Given the description of an element on the screen output the (x, y) to click on. 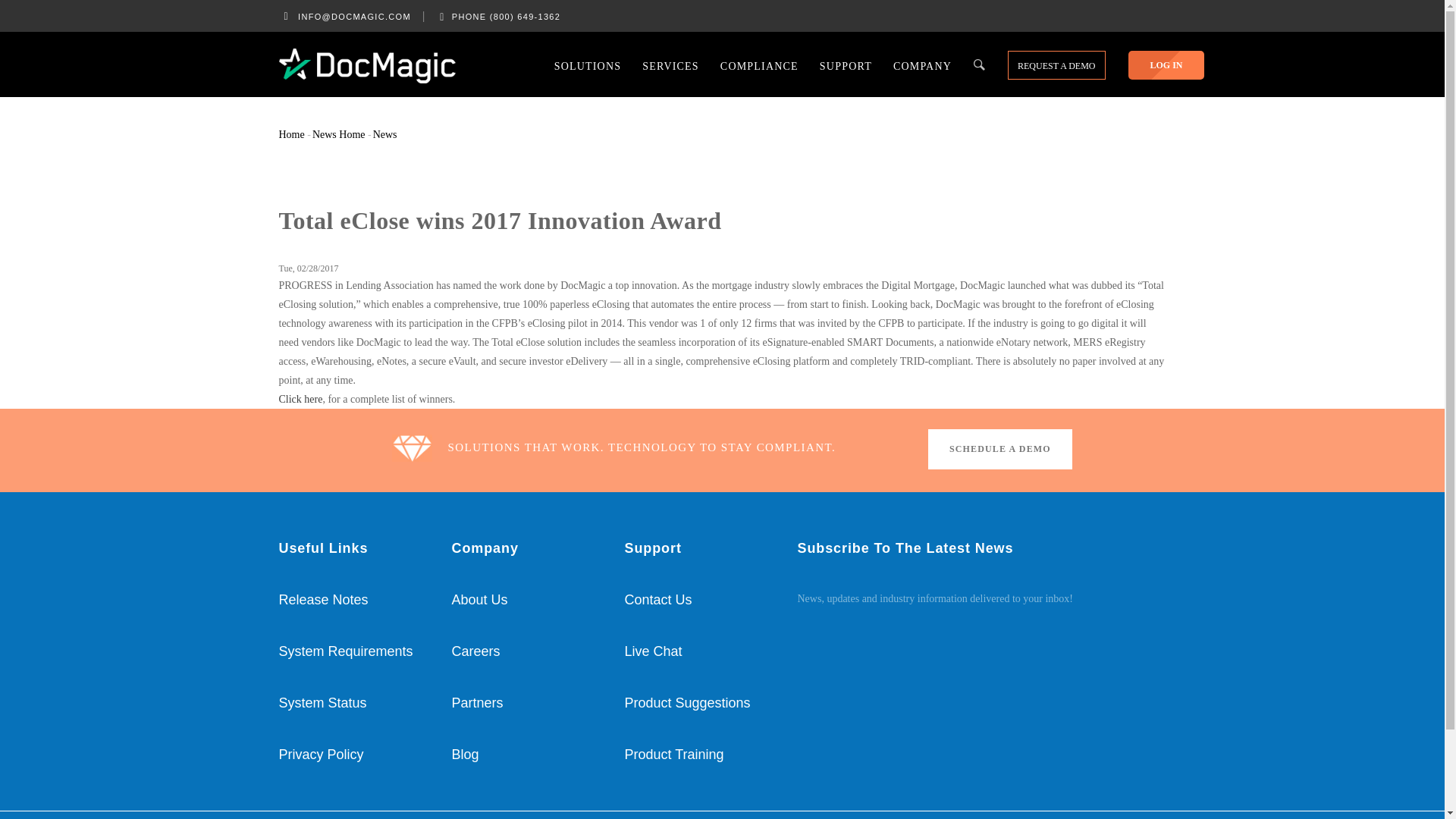
SERVICES (670, 64)
Home (367, 65)
SOLUTIONS (587, 64)
